Given the description of an element on the screen output the (x, y) to click on. 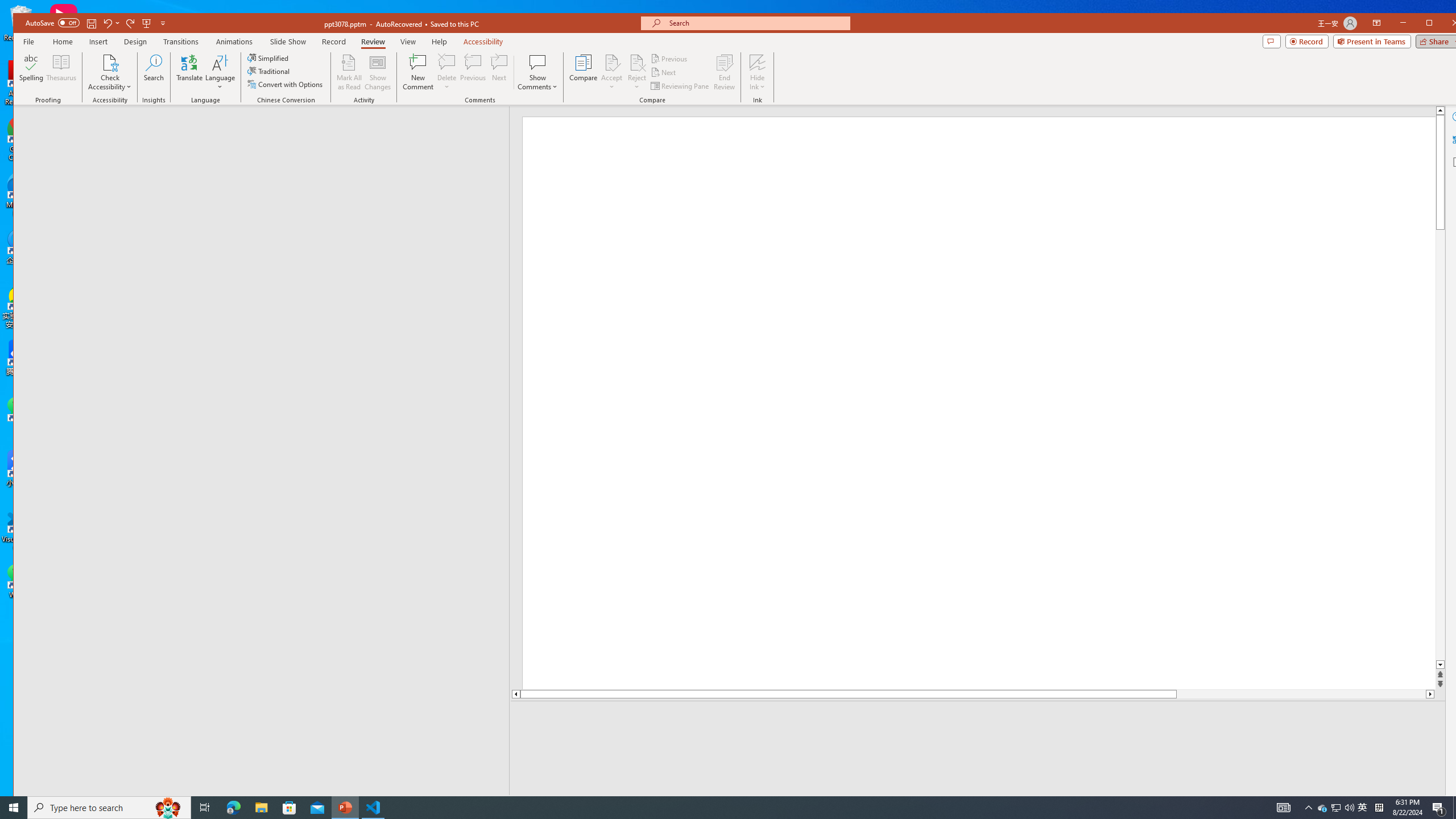
Menu On (1235, 802)
